Given the description of an element on the screen output the (x, y) to click on. 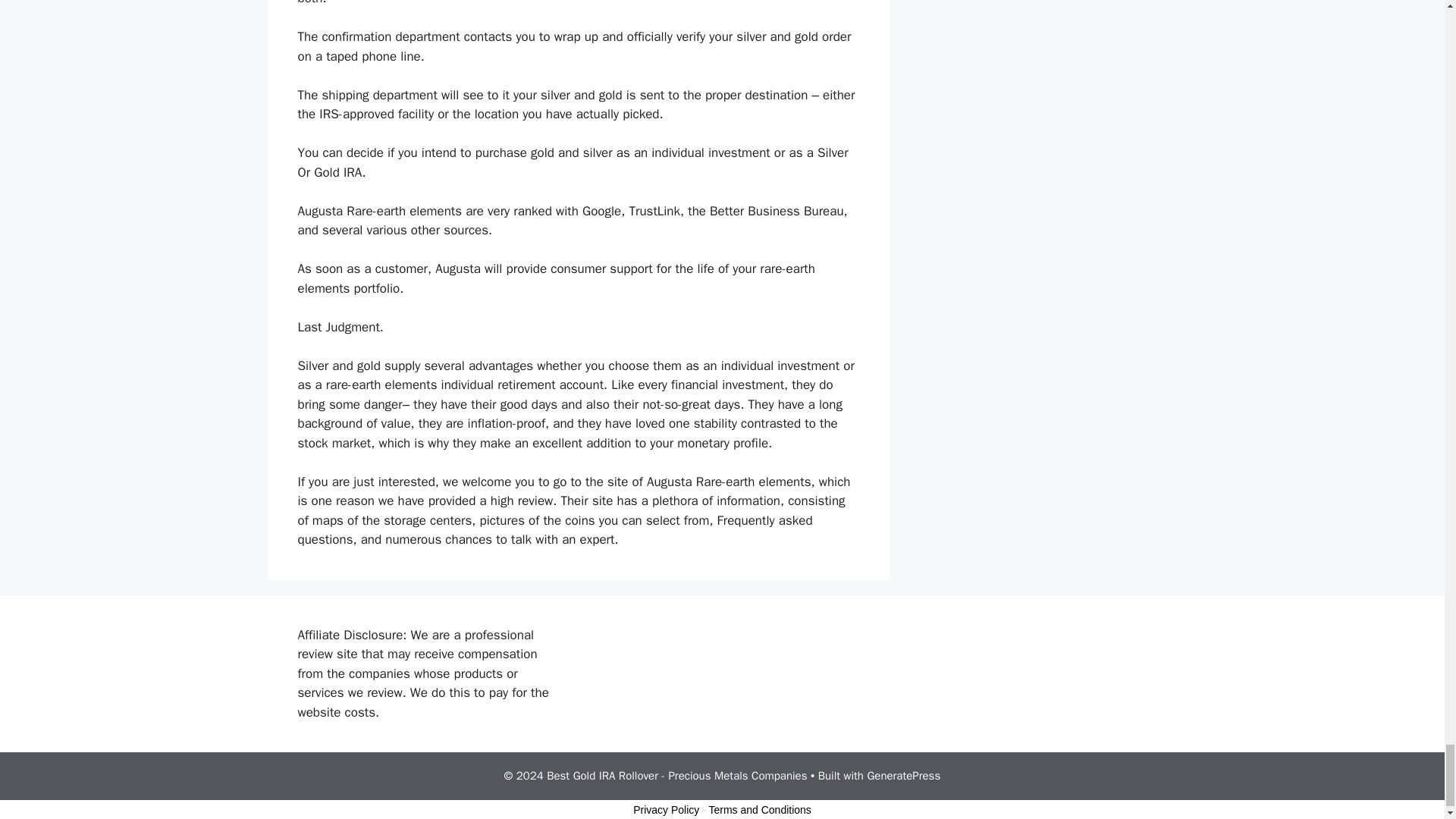
Terms and Conditions (758, 809)
GeneratePress (903, 775)
Privacy Policy (665, 809)
